Given the description of an element on the screen output the (x, y) to click on. 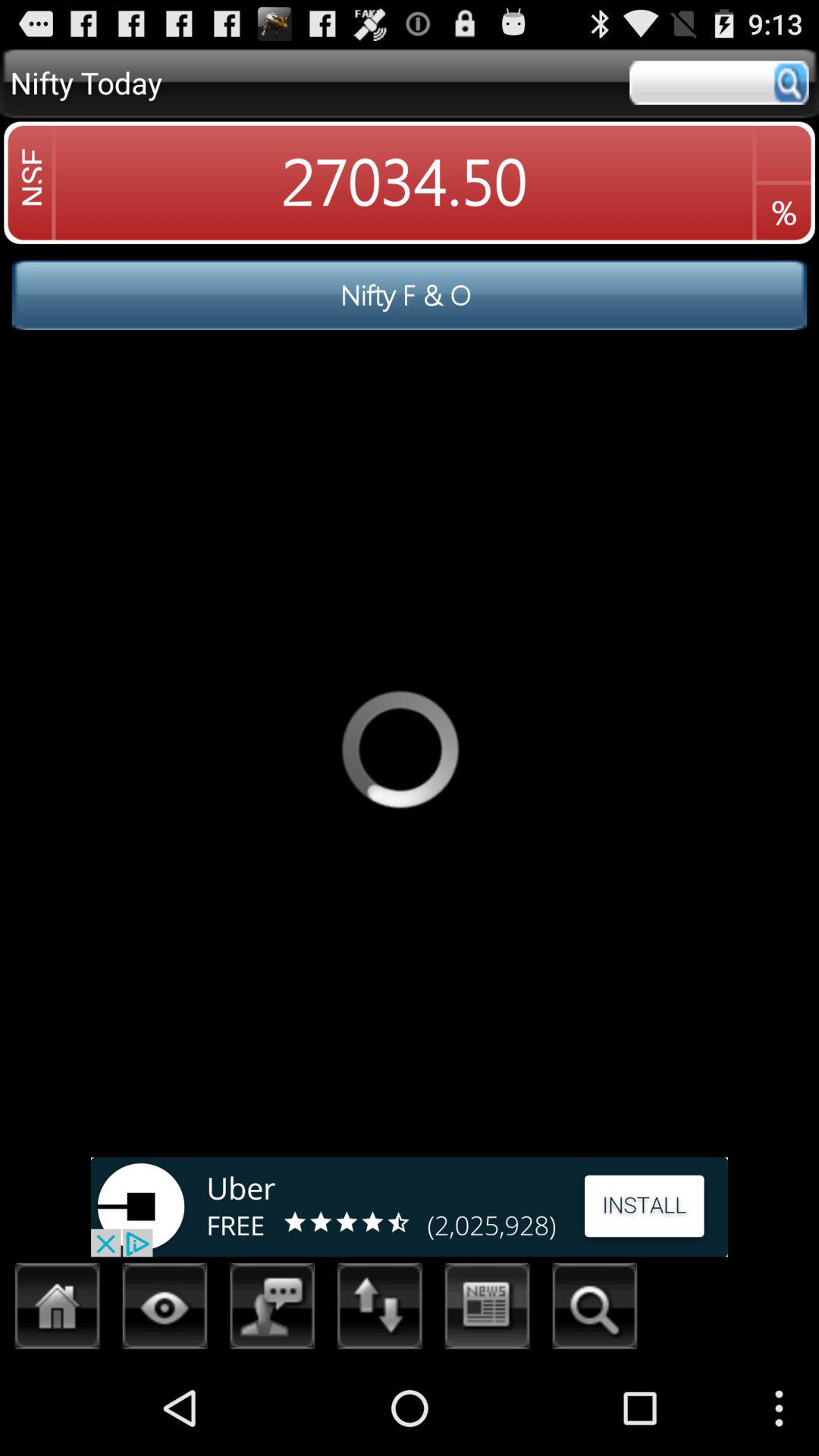
search bar (718, 82)
